Given the description of an element on the screen output the (x, y) to click on. 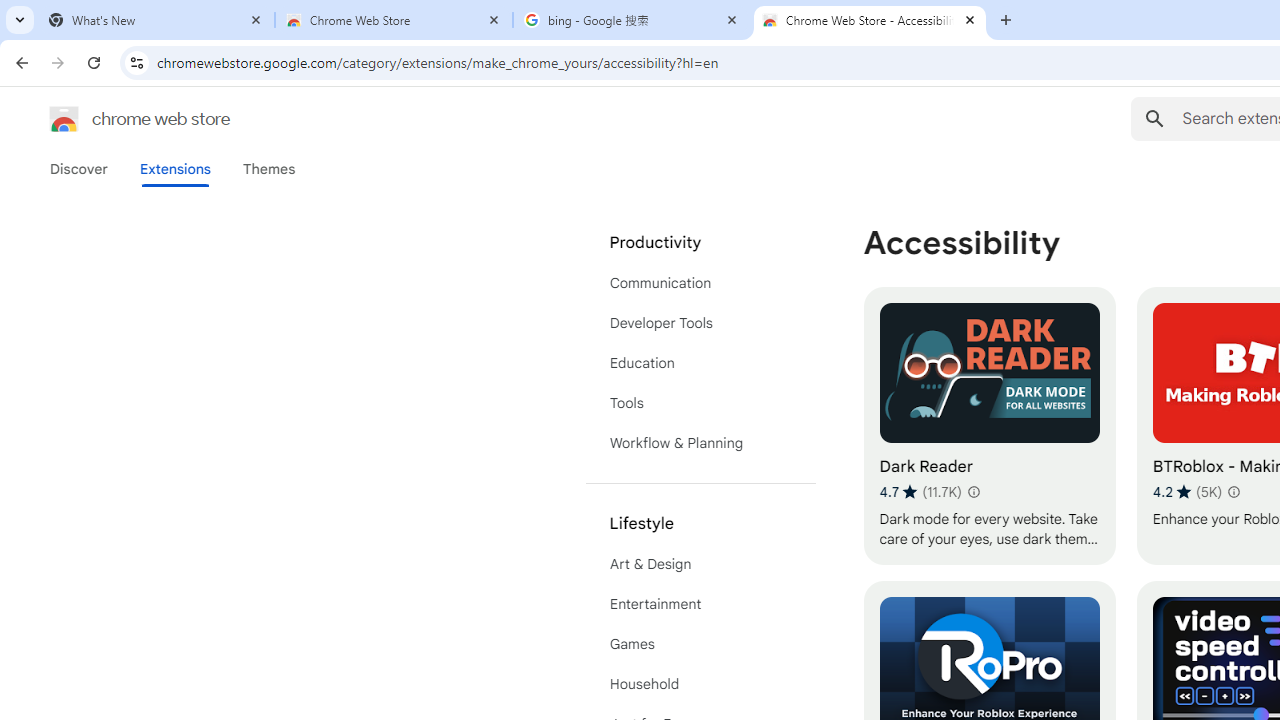
Workflow & Planning (700, 442)
